Given the description of an element on the screen output the (x, y) to click on. 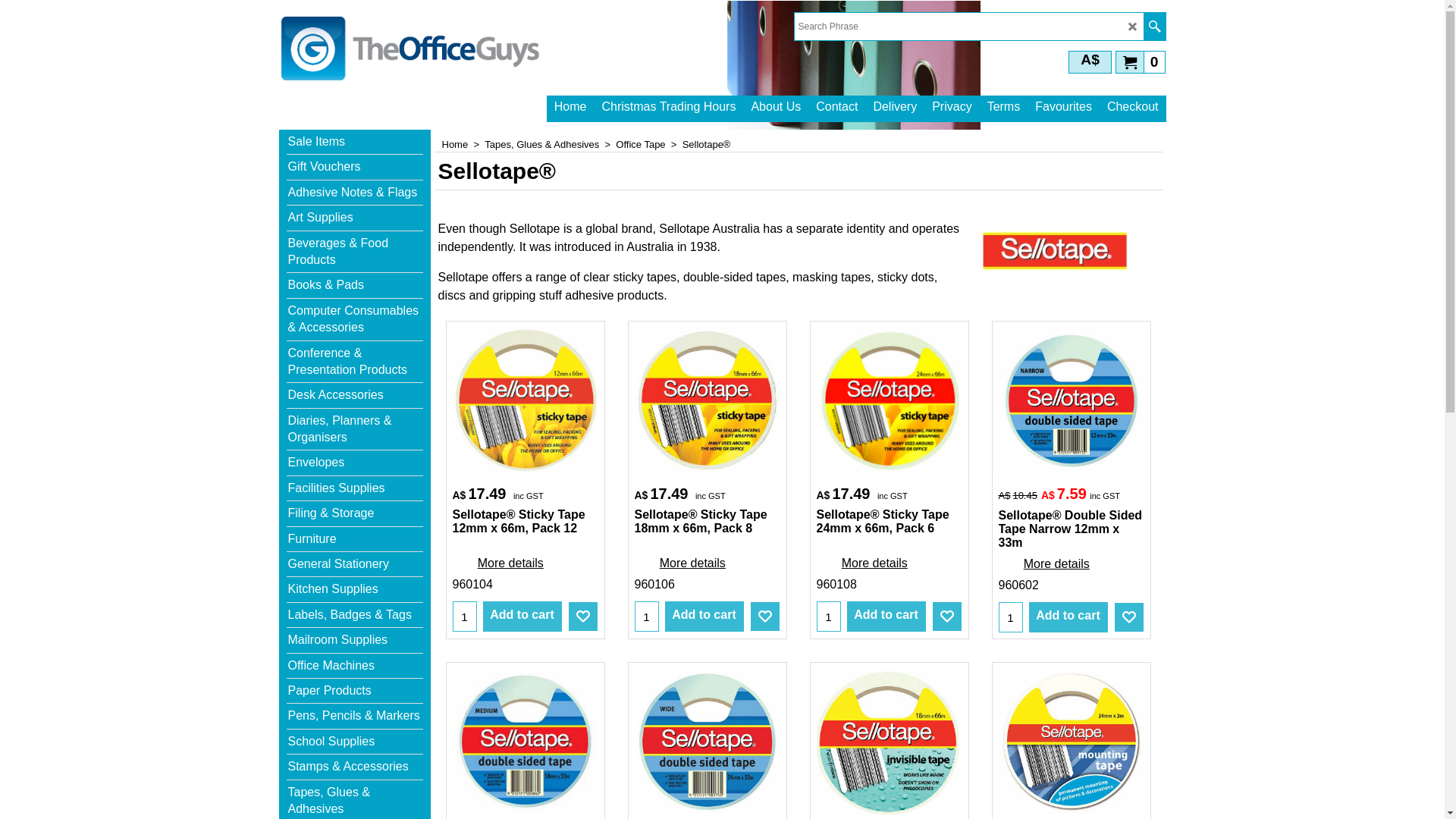
Envelopes Element type: text (354, 462)
Privacy Element type: text (951, 106)
Conference & Presentation Products Element type: text (354, 362)
Sale Items Element type: text (354, 141)
LD_CANCEL Element type: hover (1132, 26)
Diaries, Planners & Organisers Element type: text (354, 429)
Terms Element type: text (1003, 106)
Adhesive Notes & Flags Element type: text (354, 192)
Home  >  Element type: text (462, 144)
About Us Element type: text (775, 106)
1 Element type: text (646, 616)
Add to cart Element type: text (886, 616)
Tapes, Glues & Adhesives  >  Element type: text (549, 144)
School Supplies Element type: text (354, 741)
More details Element type: text (691, 563)
Furniture Element type: text (354, 539)
Favorites Element type: hover (1128, 616)
More details Element type: text (509, 563)
Labels, Badges & Tags Element type: text (354, 614)
Favourites Element type: text (1063, 106)
Office Tape  >  Element type: text (648, 144)
Favorites Element type: hover (582, 616)
Kitchen Supplies Element type: text (354, 589)
Contact Element type: text (836, 106)
Checkout Element type: text (1132, 106)
Add to cart Element type: text (704, 616)
Filing & Storage Element type: text (354, 513)
More details Element type: text (873, 563)
Pens, Pencils & Markers Element type: text (354, 715)
More details Element type: text (1055, 564)
Add to cart Element type: text (522, 616)
1 Element type: text (1010, 616)
Computer Consumables & Accessories Element type: text (354, 319)
The Office Guys Element type: hover (411, 48)
Delivery Element type: text (894, 106)
Beverages & Food Products Element type: text (354, 252)
Favorites Element type: hover (946, 616)
Stamps & Accessories Element type: text (354, 766)
Home Element type: text (570, 106)
Books & Pads Element type: text (354, 285)
General Stationery Element type: text (354, 564)
Desk Accessories Element type: text (354, 394)
Christmas Trading Hours Element type: text (668, 106)
Mailroom Supplies Element type: text (354, 639)
Art Supplies Element type: text (354, 217)
Facilities Supplies Element type: text (354, 488)
0 Element type: text (1140, 61)
Office Machines Element type: text (354, 665)
1 Element type: text (828, 616)
Add to cart Element type: text (1068, 616)
Gift Vouchers Element type: text (354, 166)
Favorites Element type: hover (764, 616)
A$ Element type: text (1089, 61)
Paper Products Element type: text (354, 690)
Find Element type: hover (1154, 26)
1 Element type: text (464, 616)
